Given the description of an element on the screen output the (x, y) to click on. 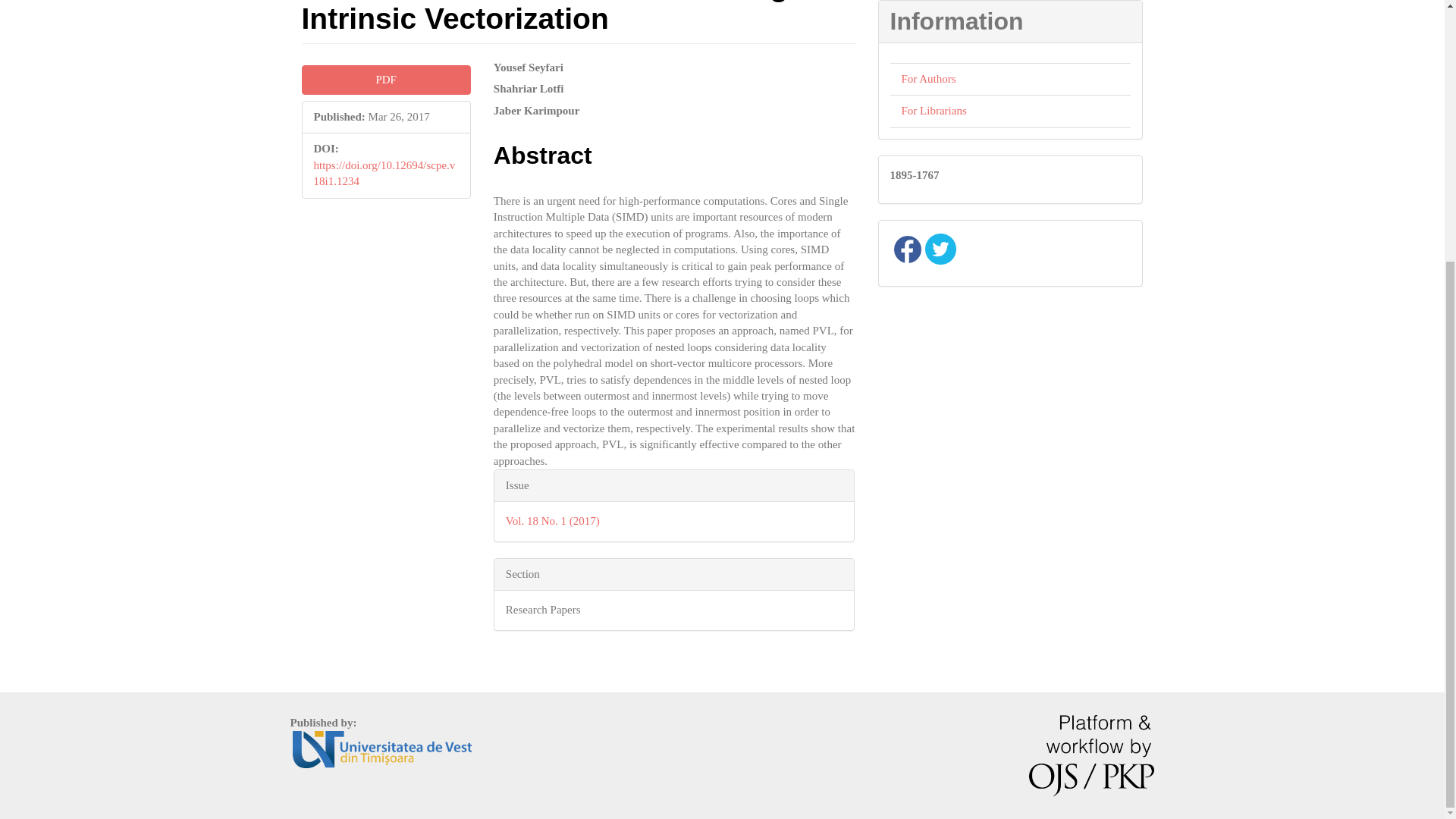
For Authors (928, 78)
For Librarians (933, 110)
Universitatea de Vest din Timisoara (381, 748)
PDF (385, 80)
